Given the description of an element on the screen output the (x, y) to click on. 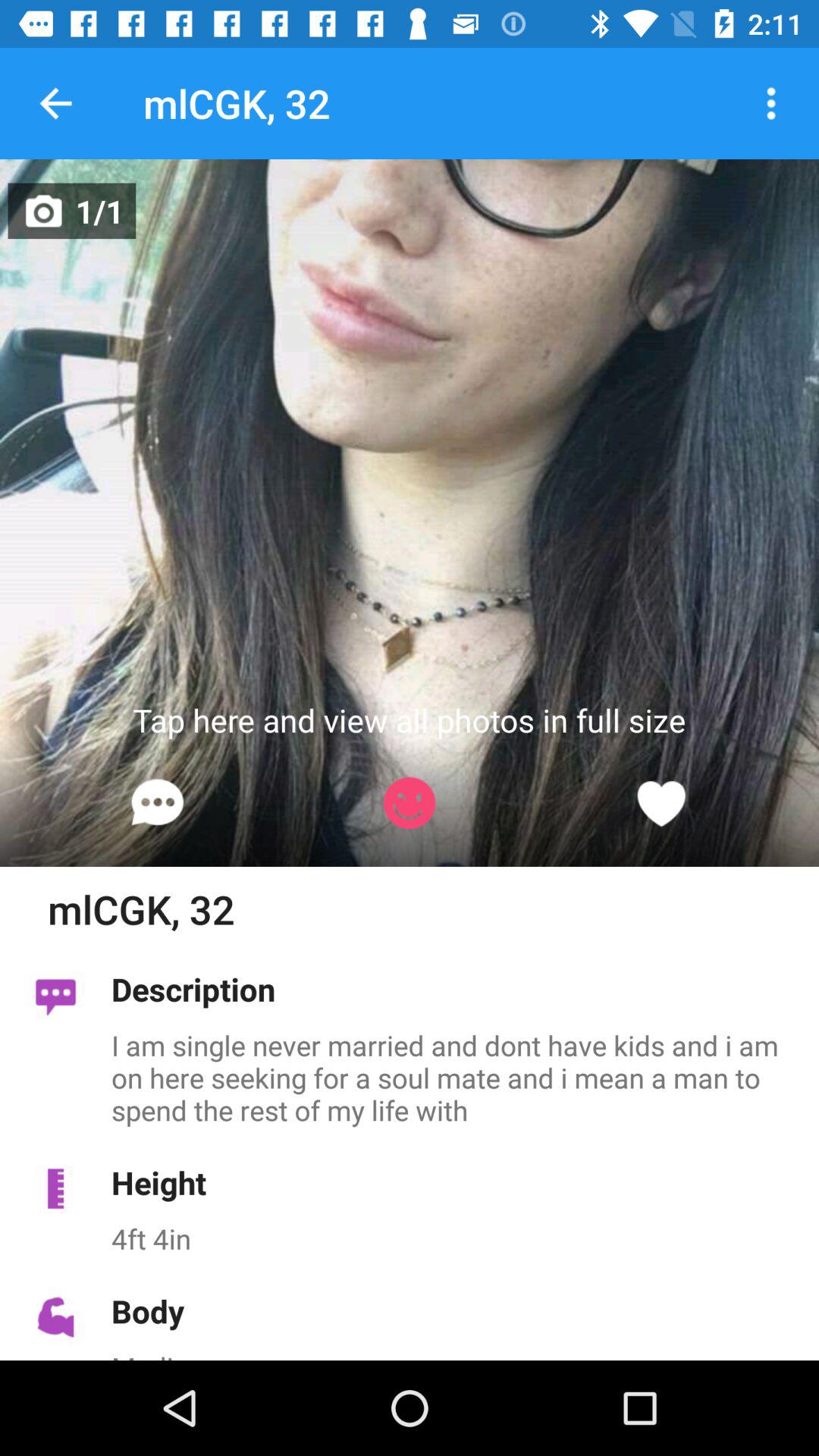
tap the icon above 1/1 (55, 103)
